Given the description of an element on the screen output the (x, y) to click on. 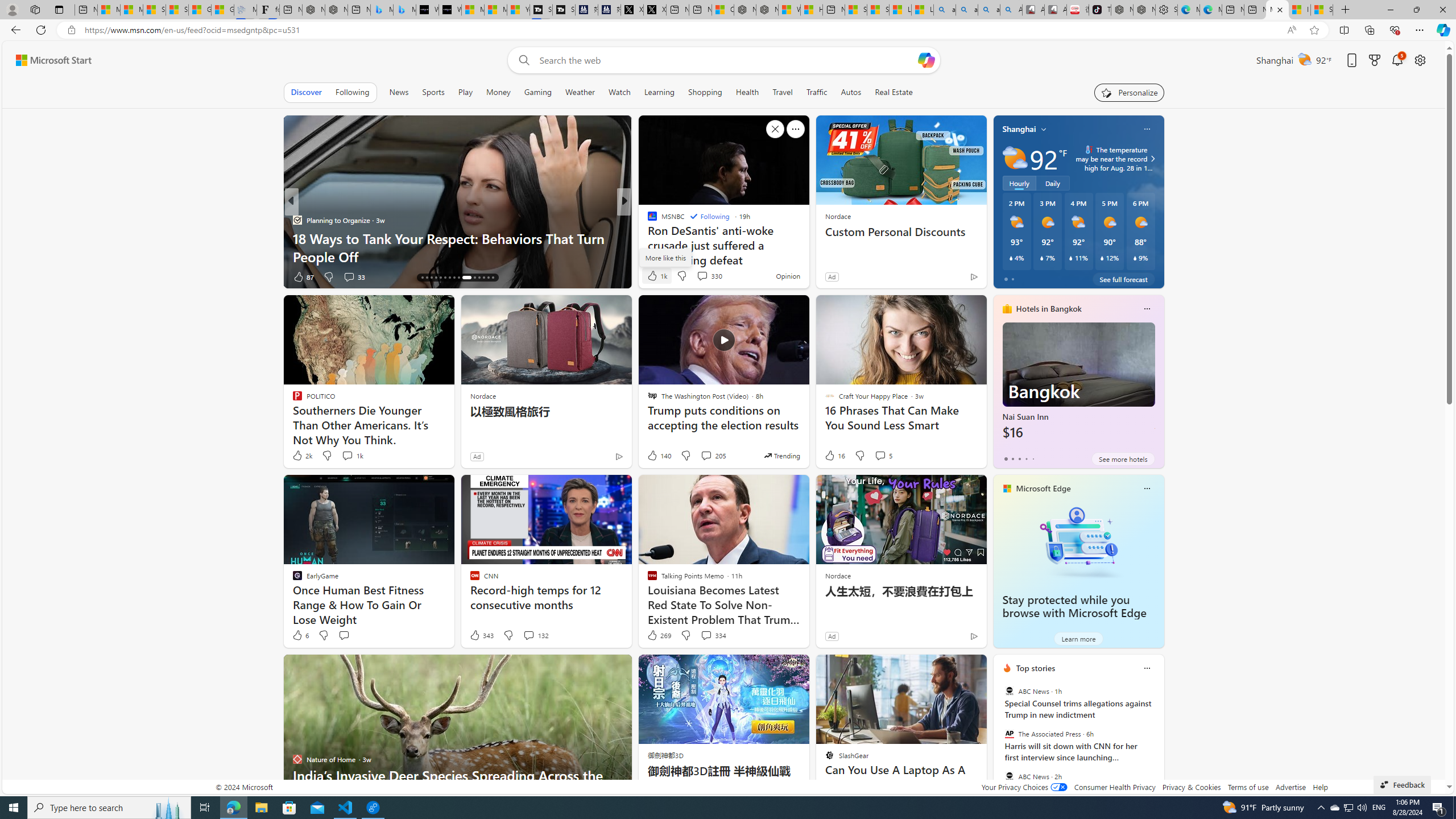
AutomationID: tab-22 (449, 277)
View comments 55 Comment (698, 276)
tab-0 (1005, 458)
140 Like (658, 455)
AutomationID: tab-25 (466, 277)
